Given the description of an element on the screen output the (x, y) to click on. 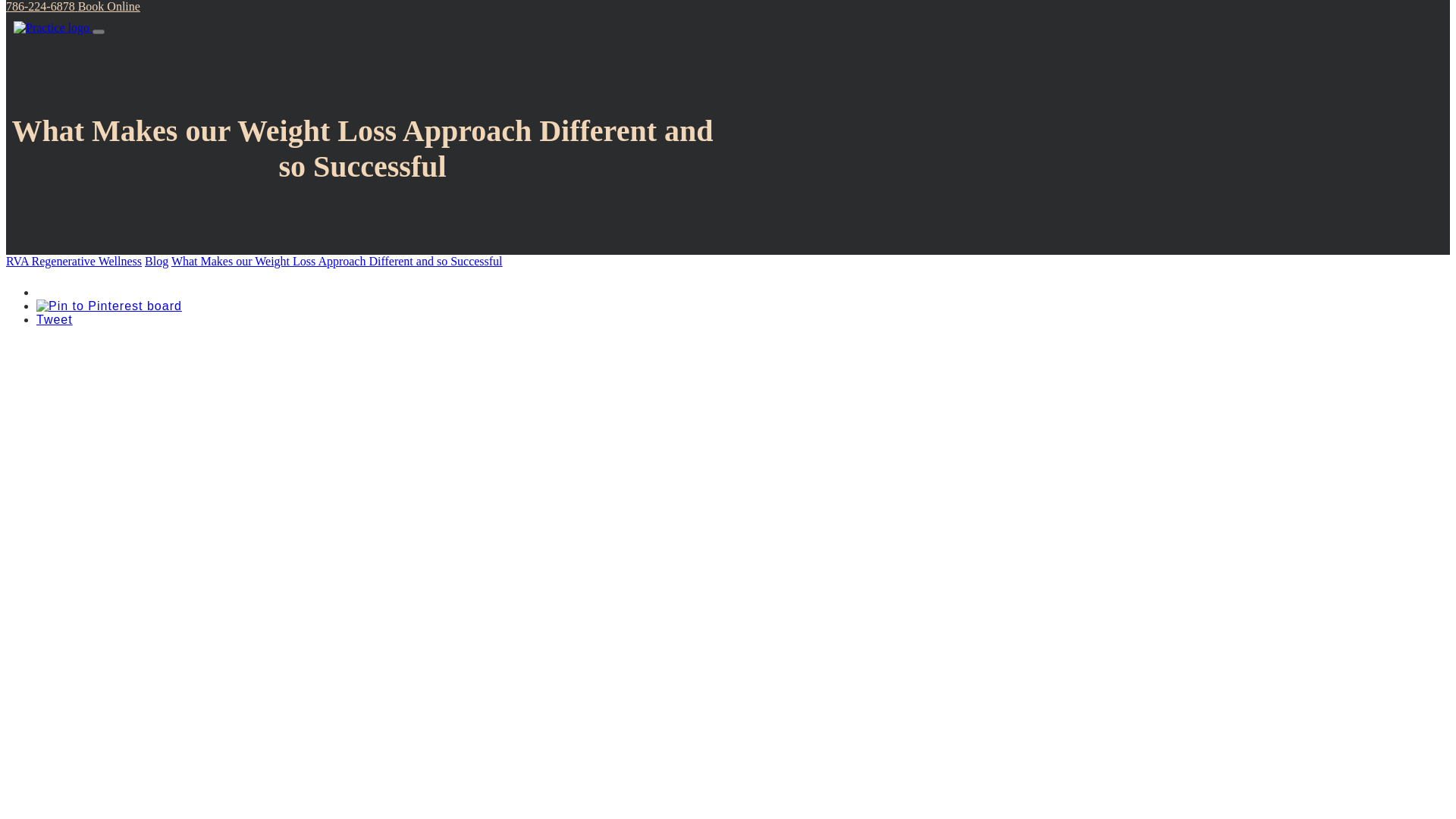
786-224-6878 (41, 6)
Book Online (108, 6)
Tweet (54, 318)
RVA Regenerative Wellness (73, 260)
Facebook social button (89, 288)
Blog (156, 260)
